Given the description of an element on the screen output the (x, y) to click on. 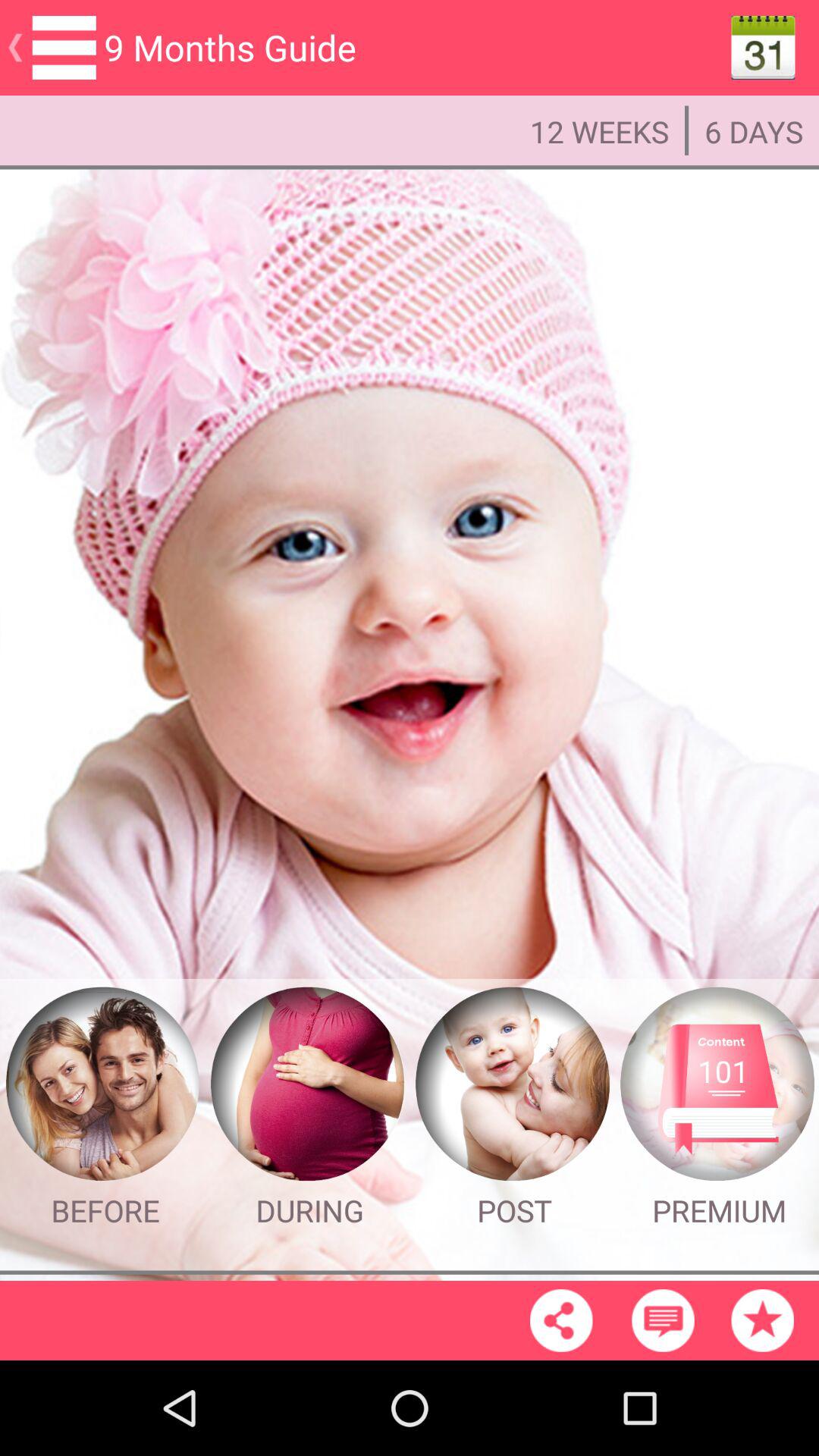
go to message box (662, 1320)
